Given the description of an element on the screen output the (x, y) to click on. 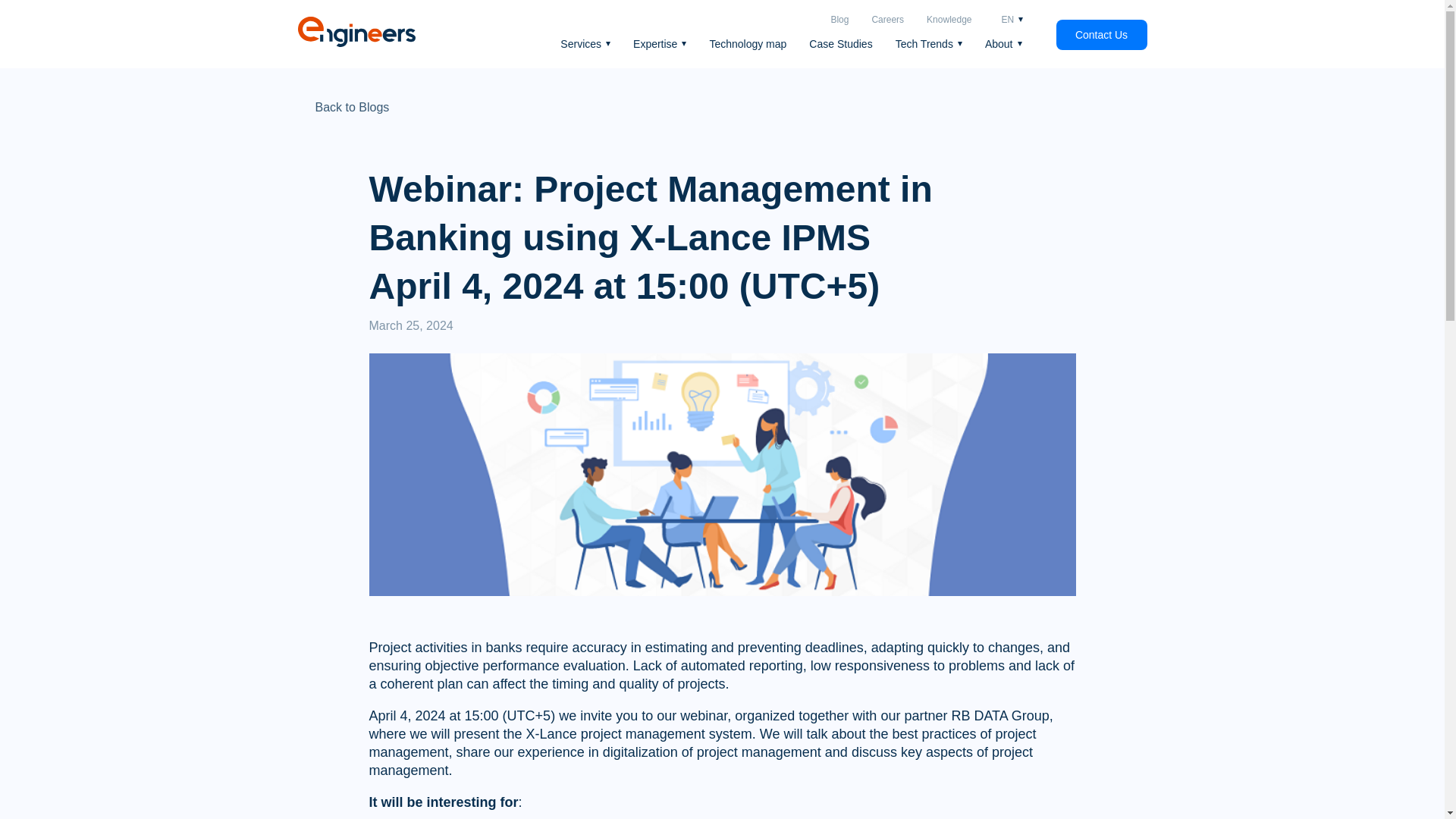
Knowledge (948, 19)
Expertise (659, 43)
About (1003, 43)
Case Studies (840, 43)
Blog (838, 19)
Back to Blogs (342, 107)
Tech Trends (928, 43)
Contact Us (1101, 34)
Careers (887, 19)
Technology map (747, 43)
